Given the description of an element on the screen output the (x, y) to click on. 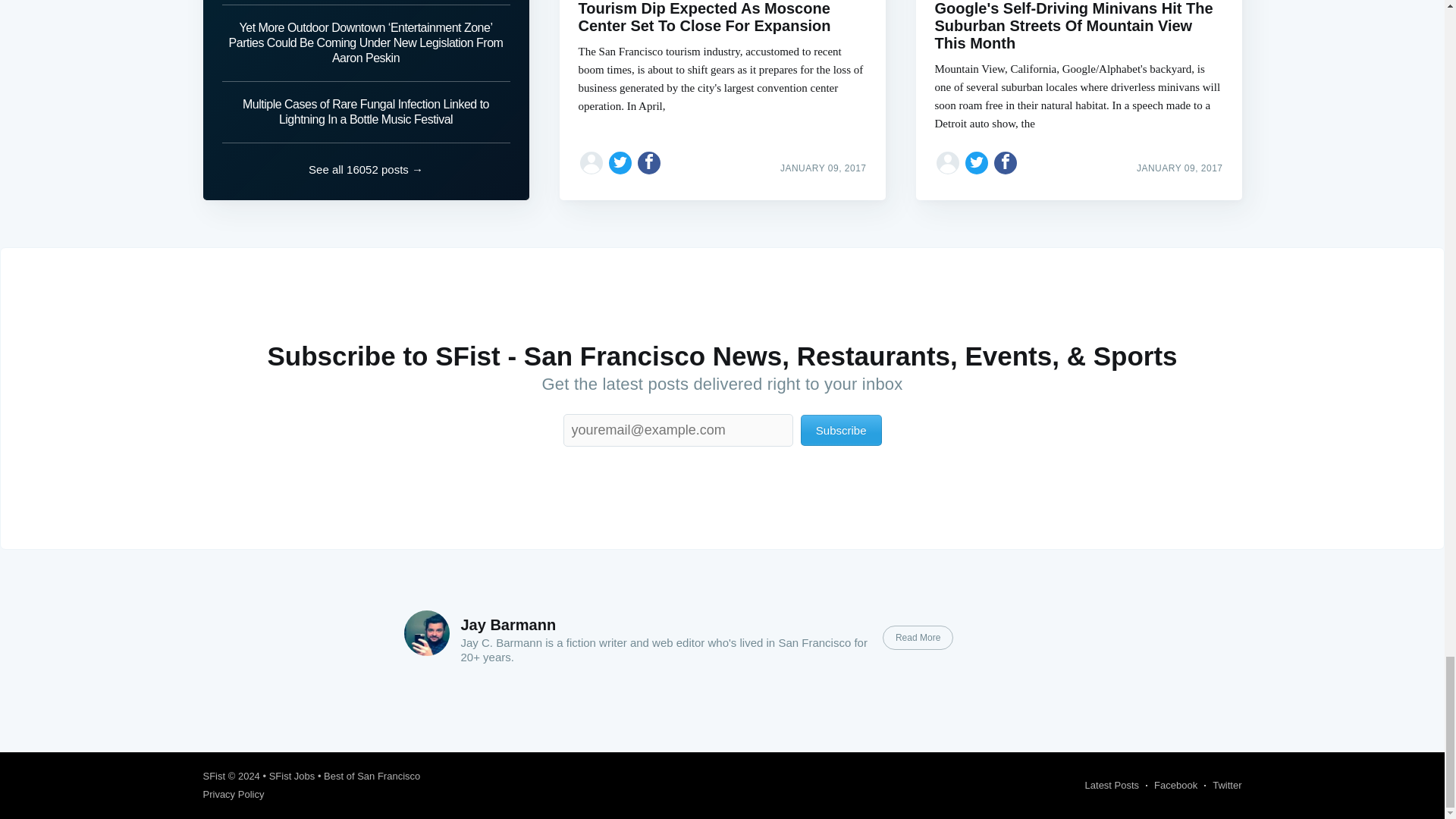
Share on Facebook (1004, 162)
Share on Twitter (976, 162)
Share on Facebook (649, 162)
Share on Twitter (620, 162)
